Given the description of an element on the screen output the (x, y) to click on. 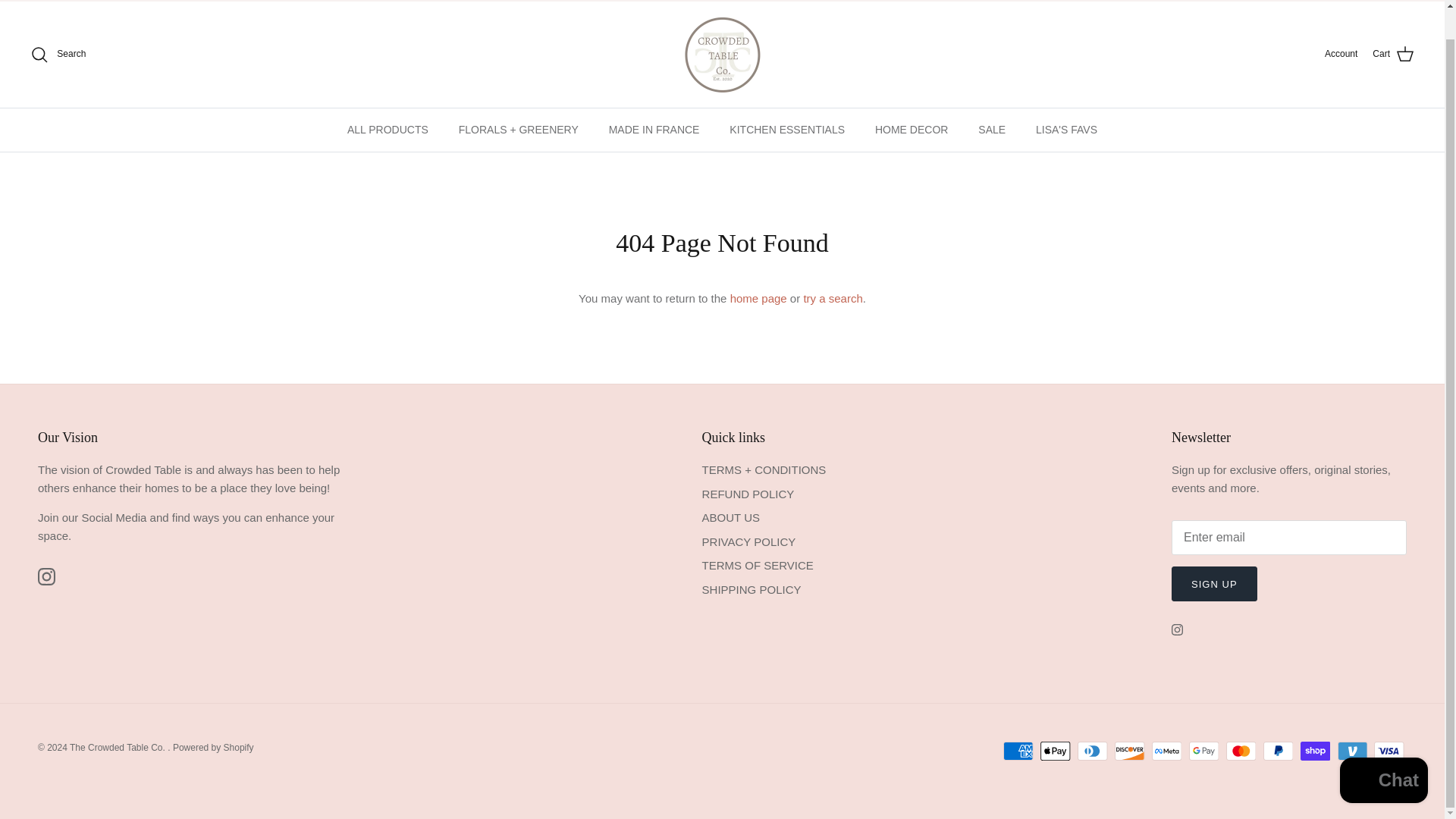
Instagram (46, 576)
Visa (1388, 751)
Apple Pay (1055, 751)
Venmo (1352, 751)
MADE IN FRANCE (654, 129)
Mastercard (1240, 751)
Instagram (1177, 629)
Search (57, 54)
Discover (1129, 751)
Shopify online store chat (1383, 751)
